Given the description of an element on the screen output the (x, y) to click on. 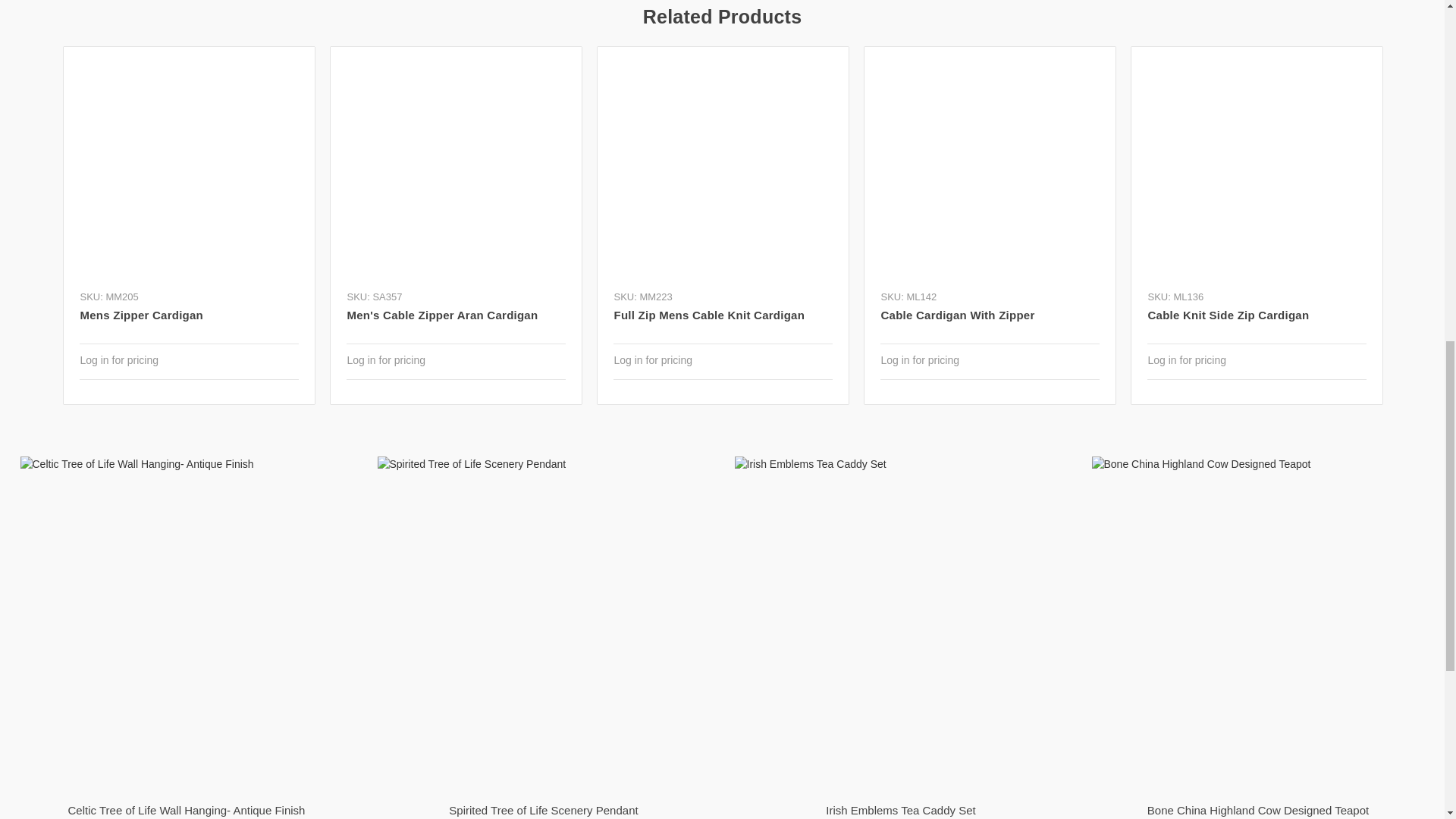
Mens Zipper Cardigan Natural (189, 172)
Men's Cable Zipper Aran Cardigan (455, 172)
